Given the description of an element on the screen output the (x, y) to click on. 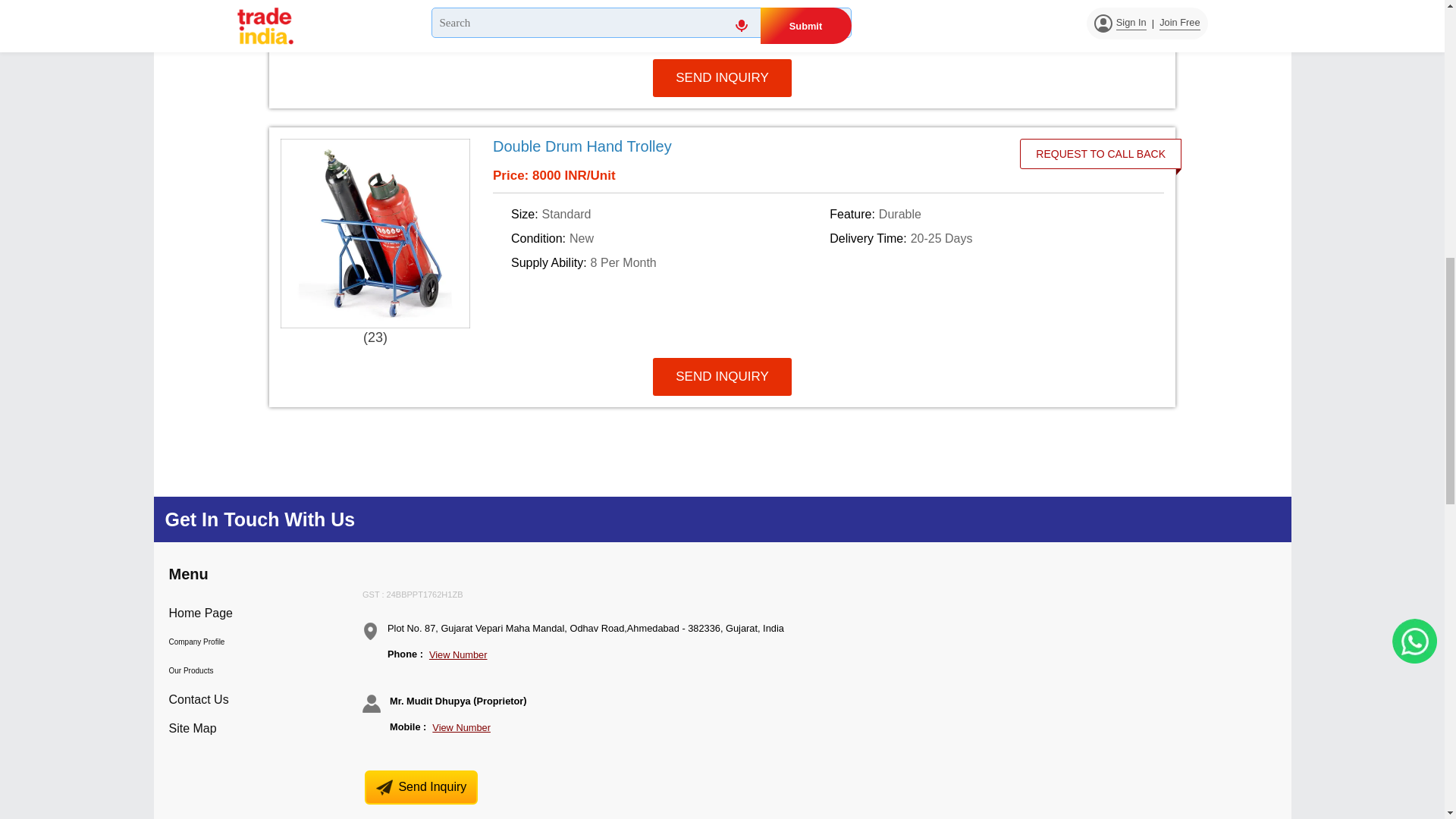
Feature: Durable (985, 213)
Double Drum Hand Trolley (582, 146)
Size: Standard (667, 213)
SEND INQUIRY (722, 77)
Double Drum Hand Trolley (761, 145)
